Given the description of an element on the screen output the (x, y) to click on. 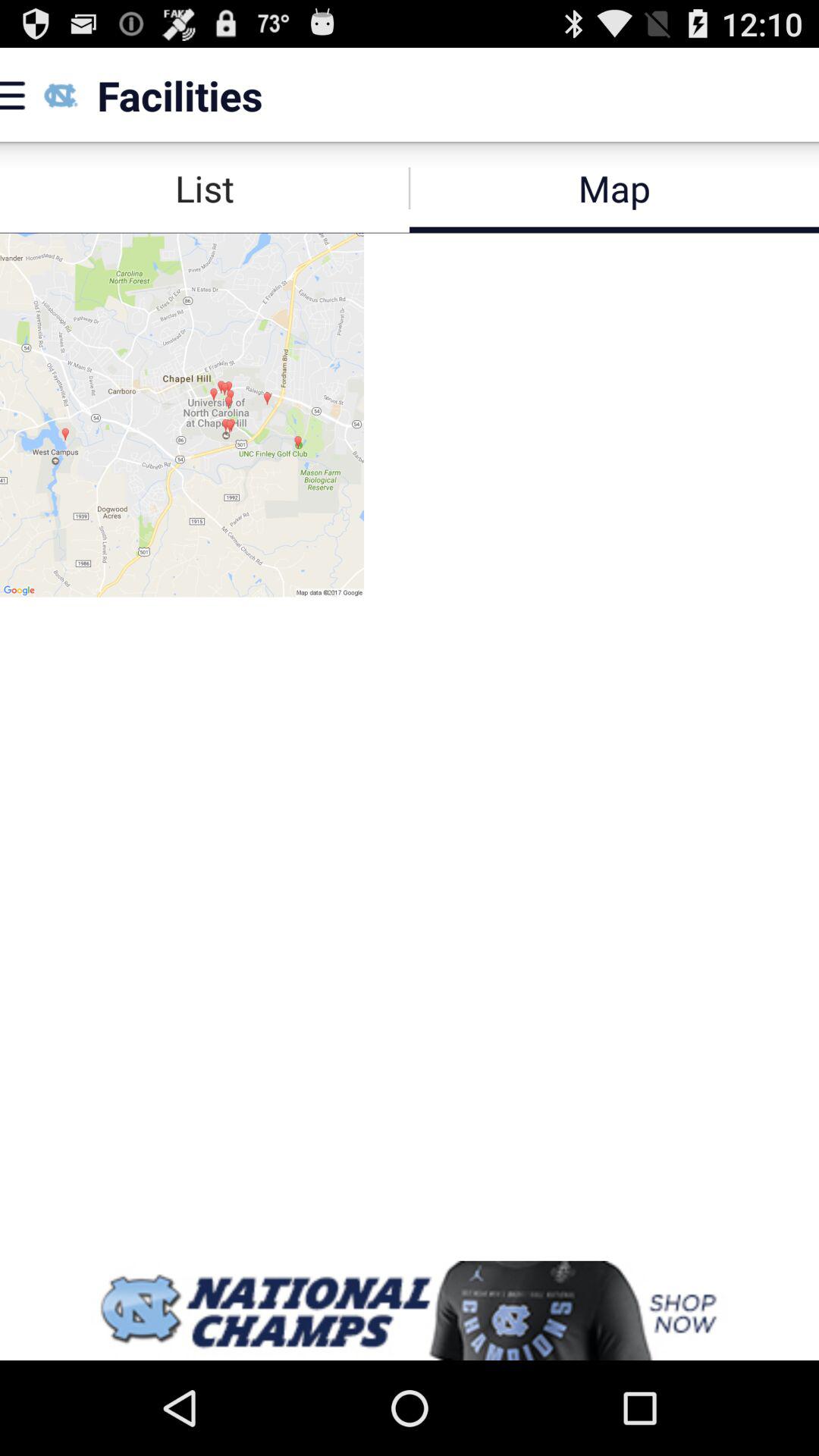
banner advertisement (409, 1310)
